Given the description of an element on the screen output the (x, y) to click on. 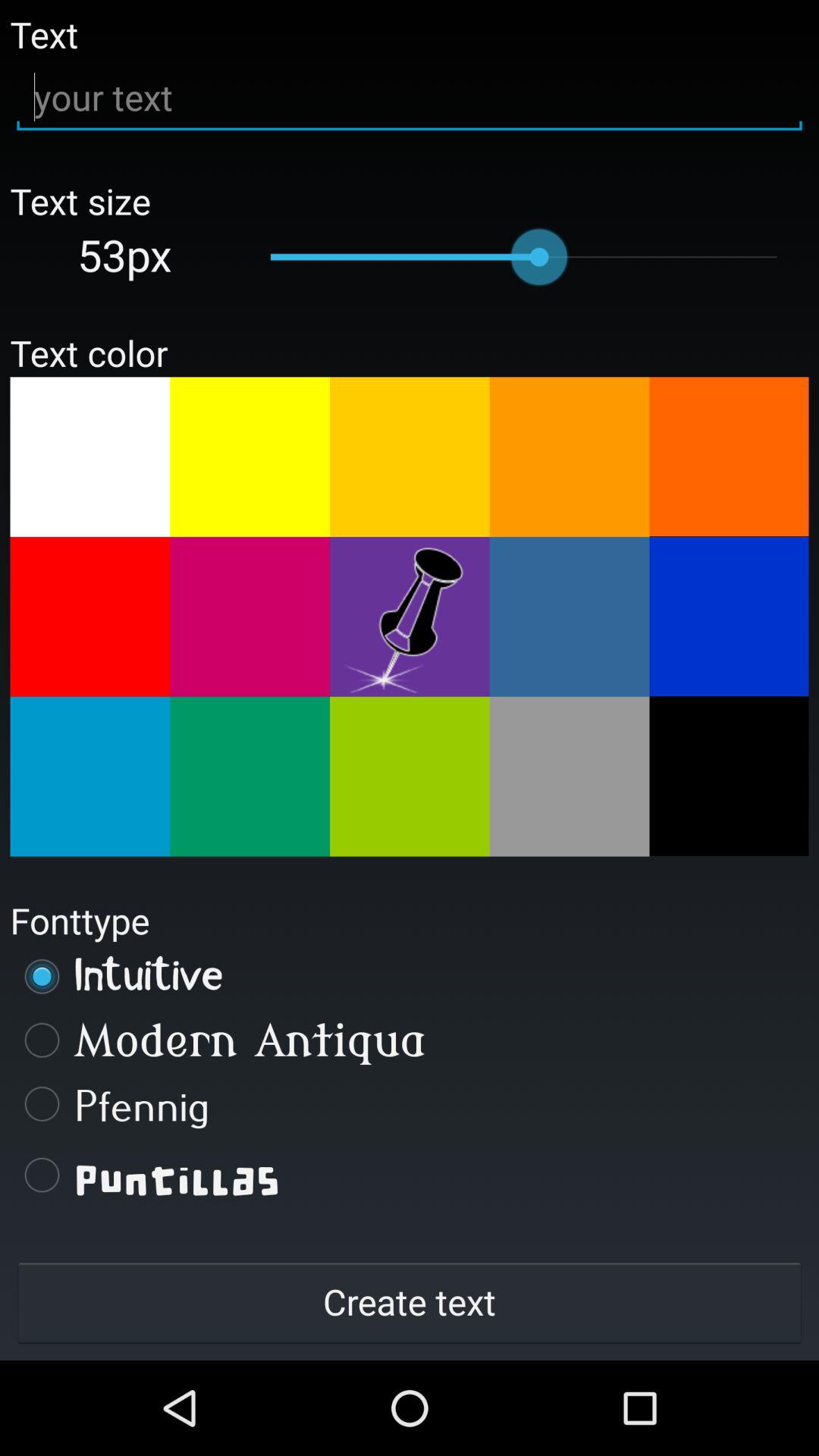
turn off radio button above modern antiqua radio button (409, 976)
